Given the description of an element on the screen output the (x, y) to click on. 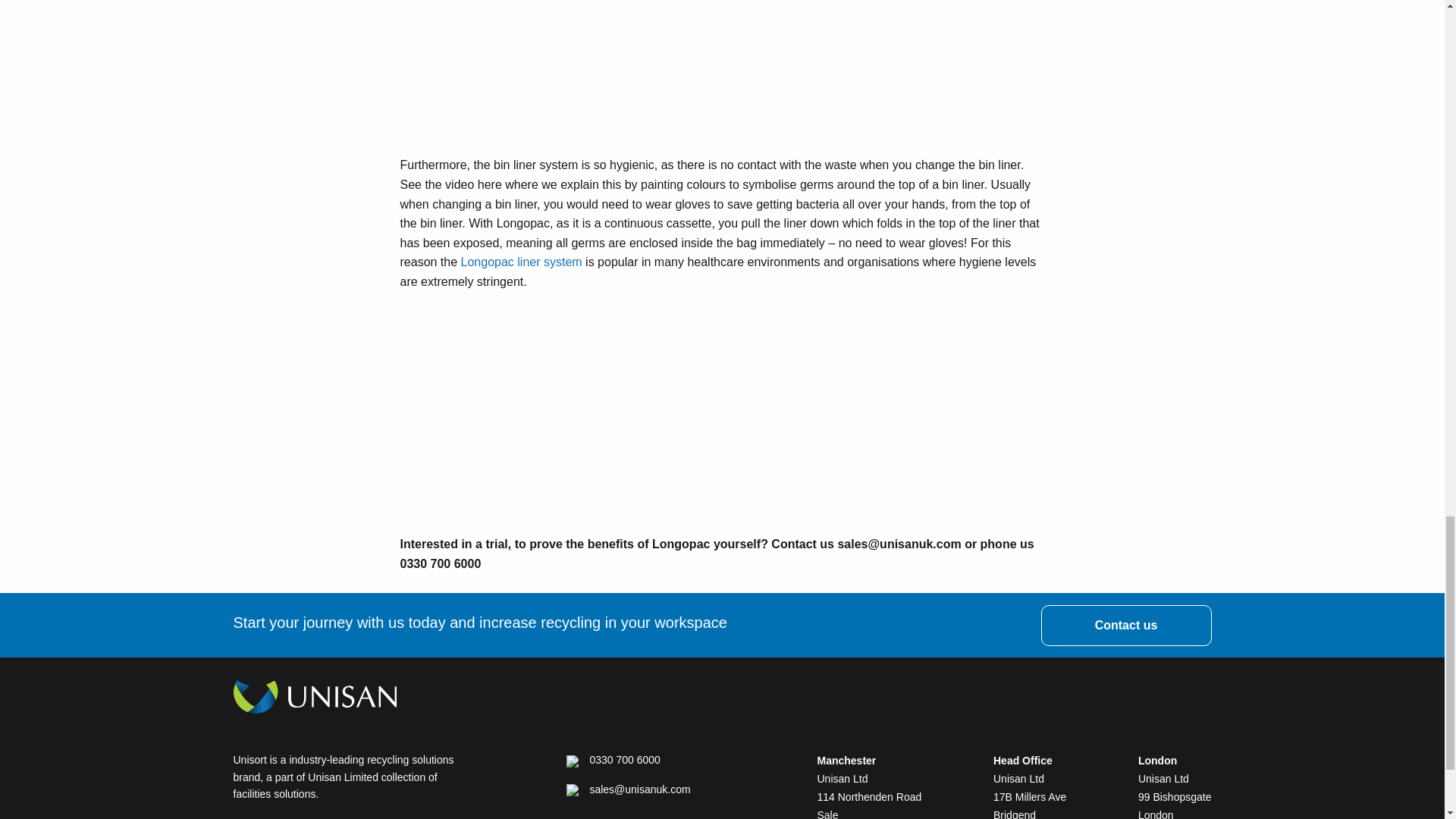
Longopac - Probably the strongest bin system in the world! (589, 53)
